Given the description of an element on the screen output the (x, y) to click on. 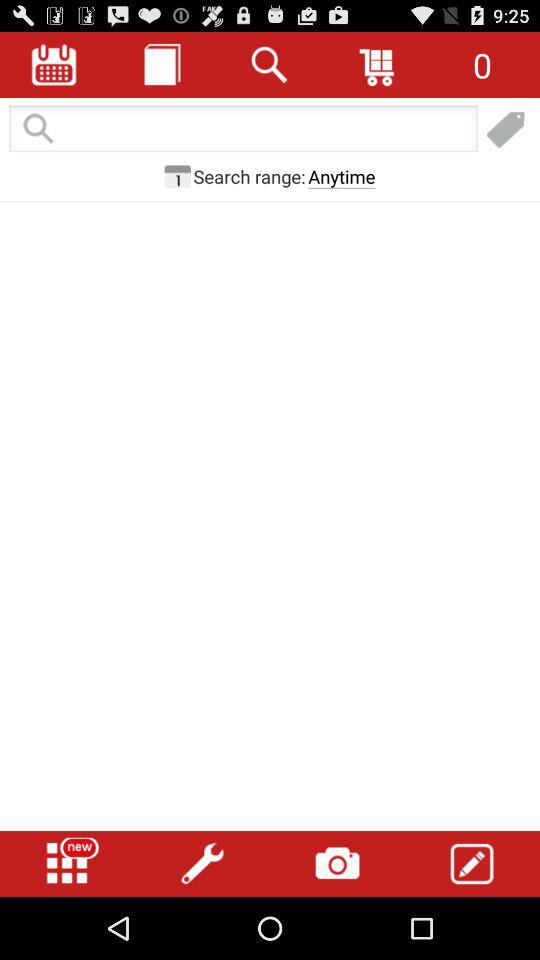
edit button (472, 863)
